Given the description of an element on the screen output the (x, y) to click on. 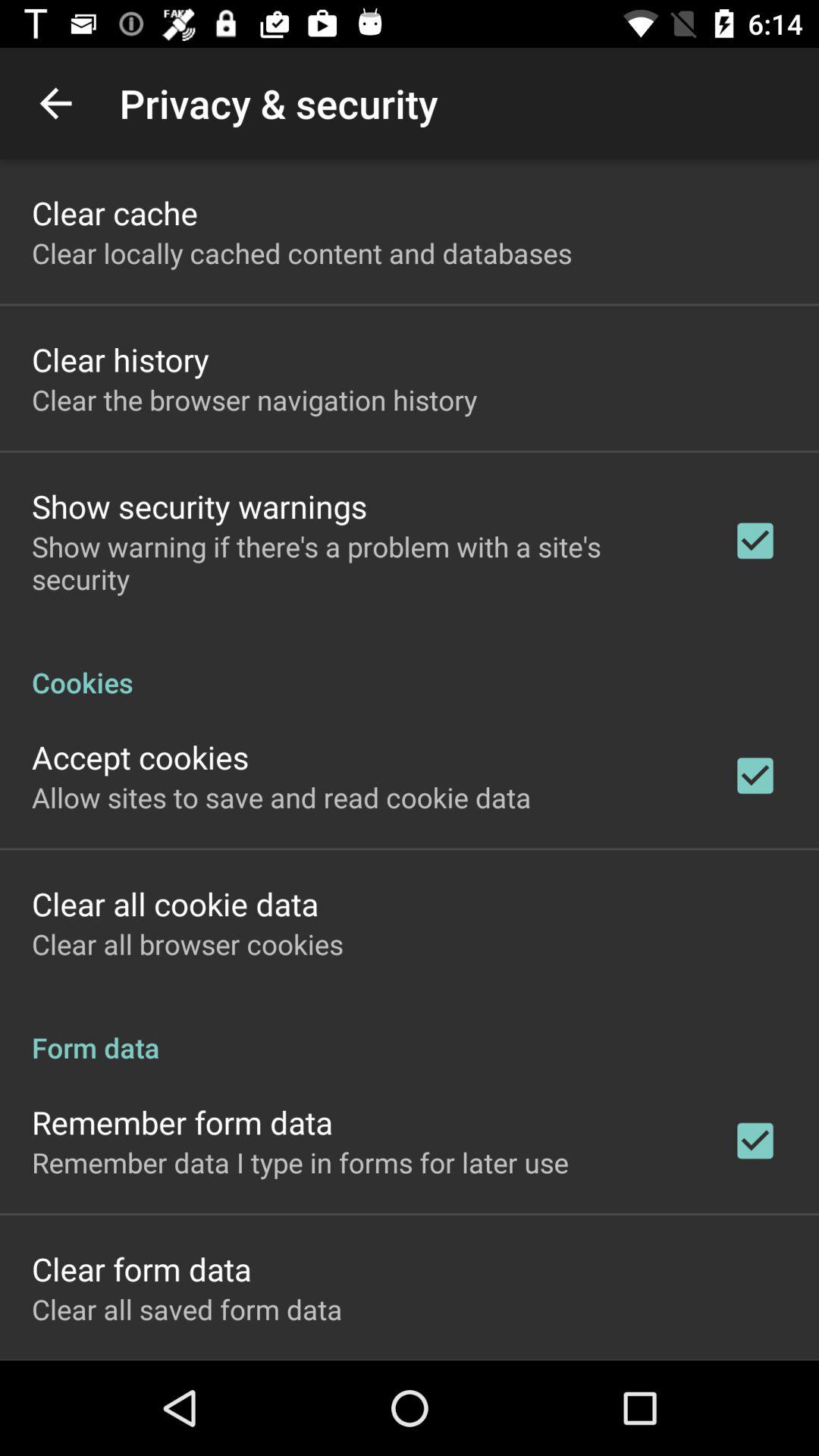
click the icon below cookies (140, 756)
